Given the description of an element on the screen output the (x, y) to click on. 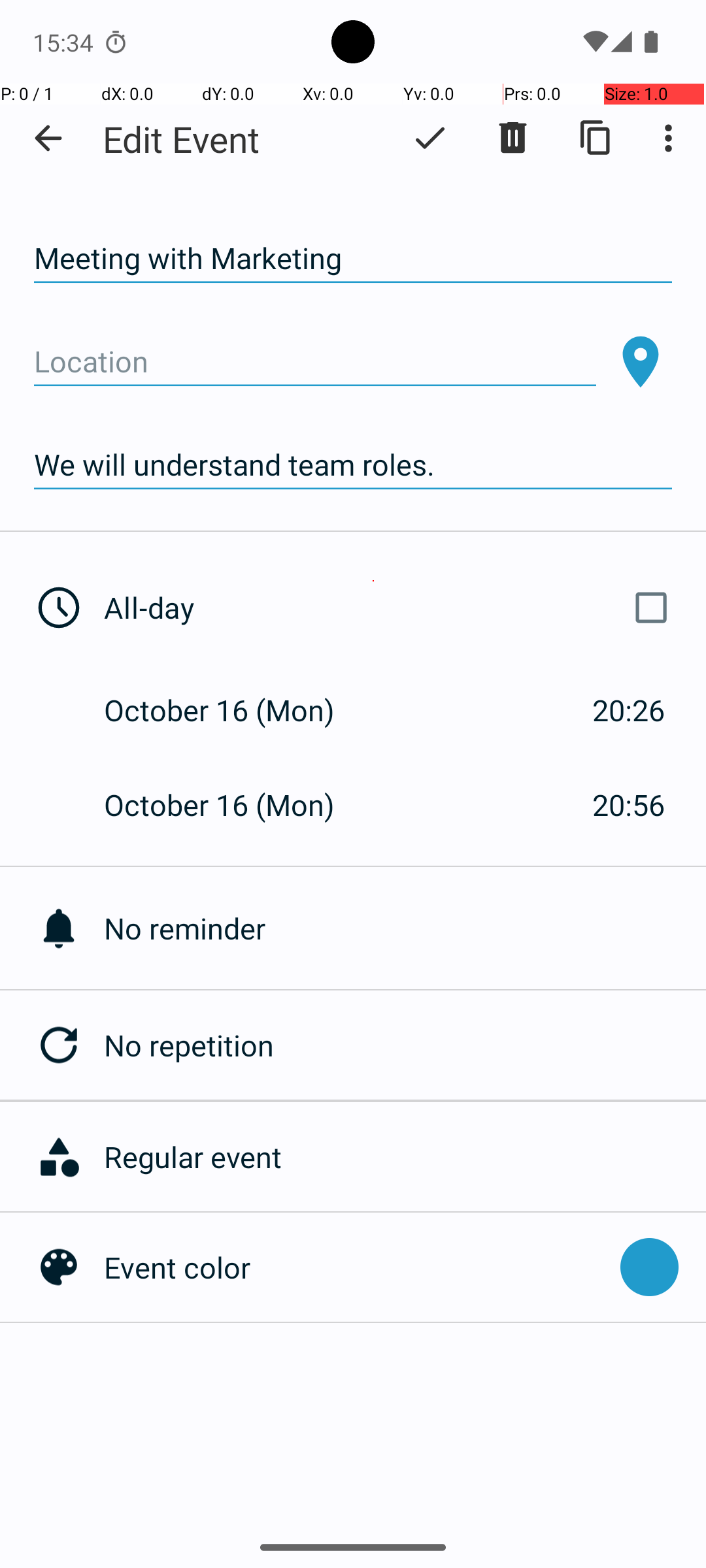
We will understand team roles. Element type: android.widget.EditText (352, 465)
20:26 Element type: android.widget.TextView (628, 709)
20:56 Element type: android.widget.TextView (628, 804)
